Given the description of an element on the screen output the (x, y) to click on. 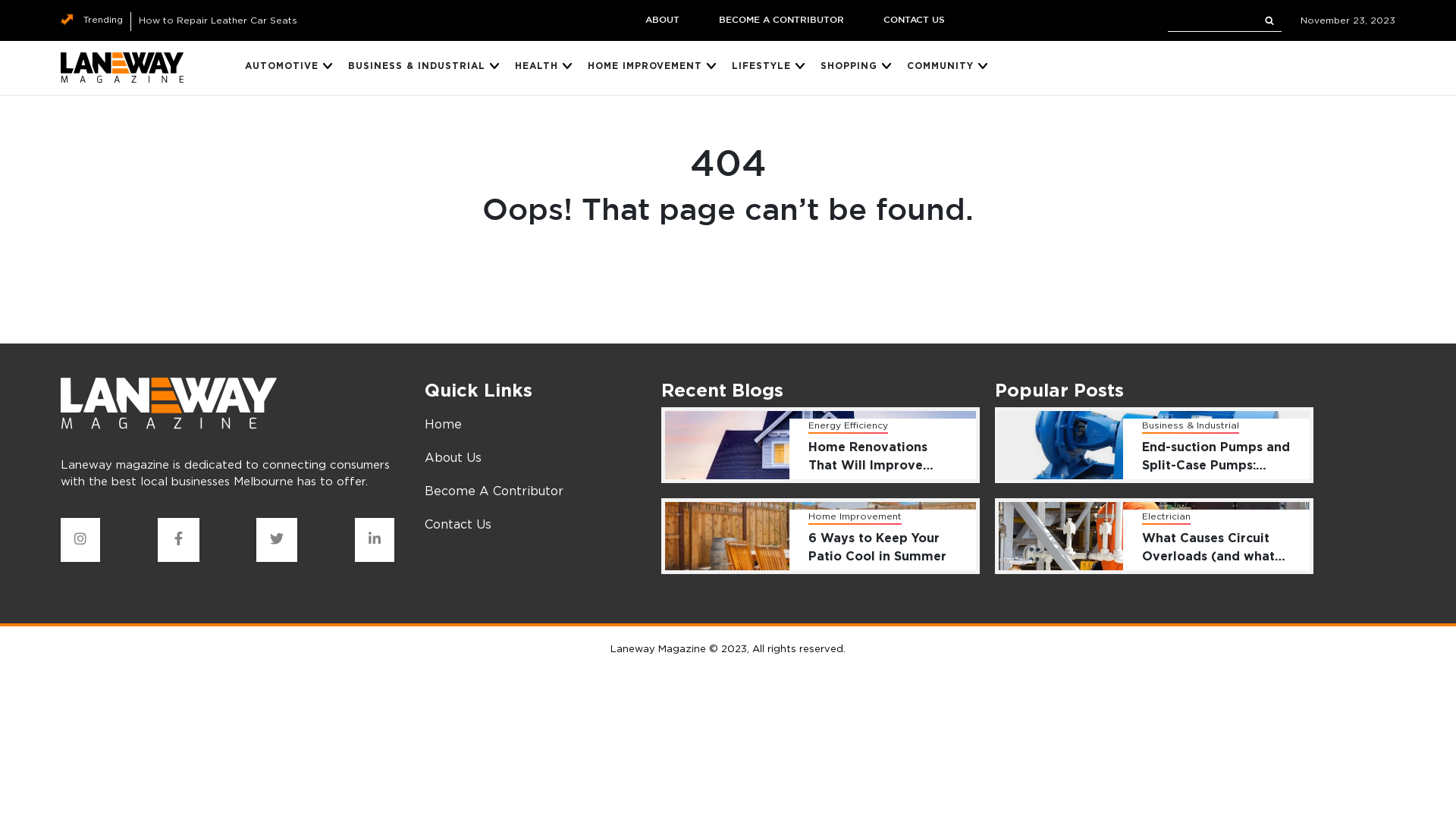
Become A Contributor Element type: text (493, 490)
Home Improvement Element type: text (854, 516)
COMMUNITY Element type: text (939, 67)
Energy Efficiency Element type: text (848, 425)
Home Element type: text (442, 423)
HEALTH Element type: text (536, 67)
Contact Us Element type: text (457, 523)
BUSINESS & INDUSTRIAL Element type: text (416, 67)
HOME IMPROVEMENT Element type: text (644, 67)
SHOPPING Element type: text (848, 67)
BECOME A CONTRIBUTOR Element type: text (781, 19)
AUTOMOTIVE Element type: text (281, 67)
What Causes Circuit Overloads (and what to do about it) Element type: text (1216, 549)
Business & Industrial Element type: text (1190, 425)
Skip to content Element type: text (0, 0)
Home Renovations That Will Improve Energy Efficiency Element type: text (882, 458)
ABOUT Element type: text (661, 19)
CONTACT US Element type: text (913, 19)
LIFESTYLE Element type: text (760, 67)
6 Ways to Keep Your Patio Cool in Summer Element type: text (882, 549)
How to Repair Leather Car Seats Element type: text (217, 20)
About Us Element type: text (452, 457)
Electrician Element type: text (1166, 516)
